Given the description of an element on the screen output the (x, y) to click on. 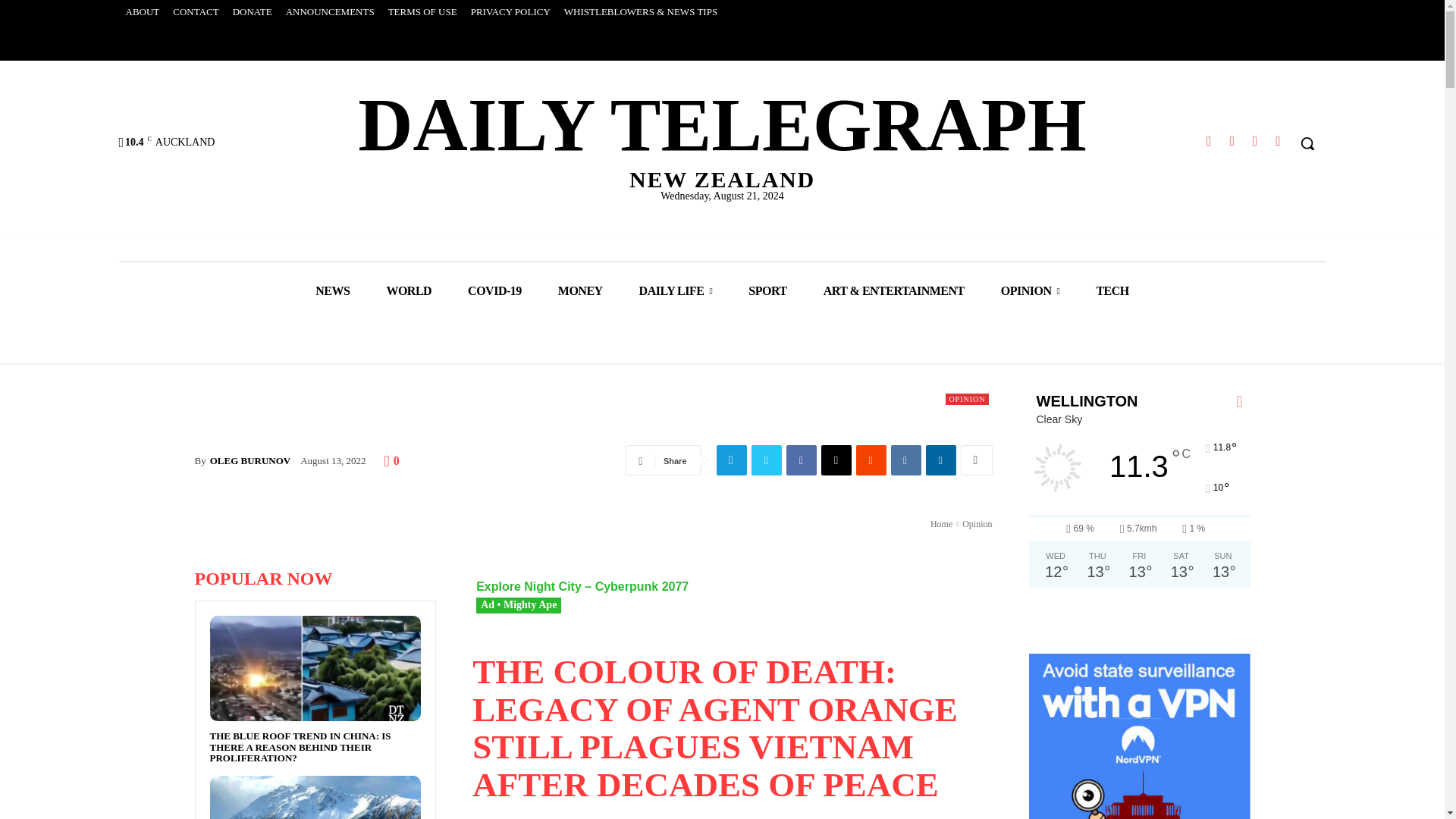
CONTACT (195, 12)
NEWS (332, 291)
Telegram (1208, 140)
WORLD (408, 291)
Tiktok (721, 136)
PRIVACY POLICY (1254, 140)
Twitter (510, 12)
Email (1231, 140)
Linkedin (835, 460)
